Given the description of an element on the screen output the (x, y) to click on. 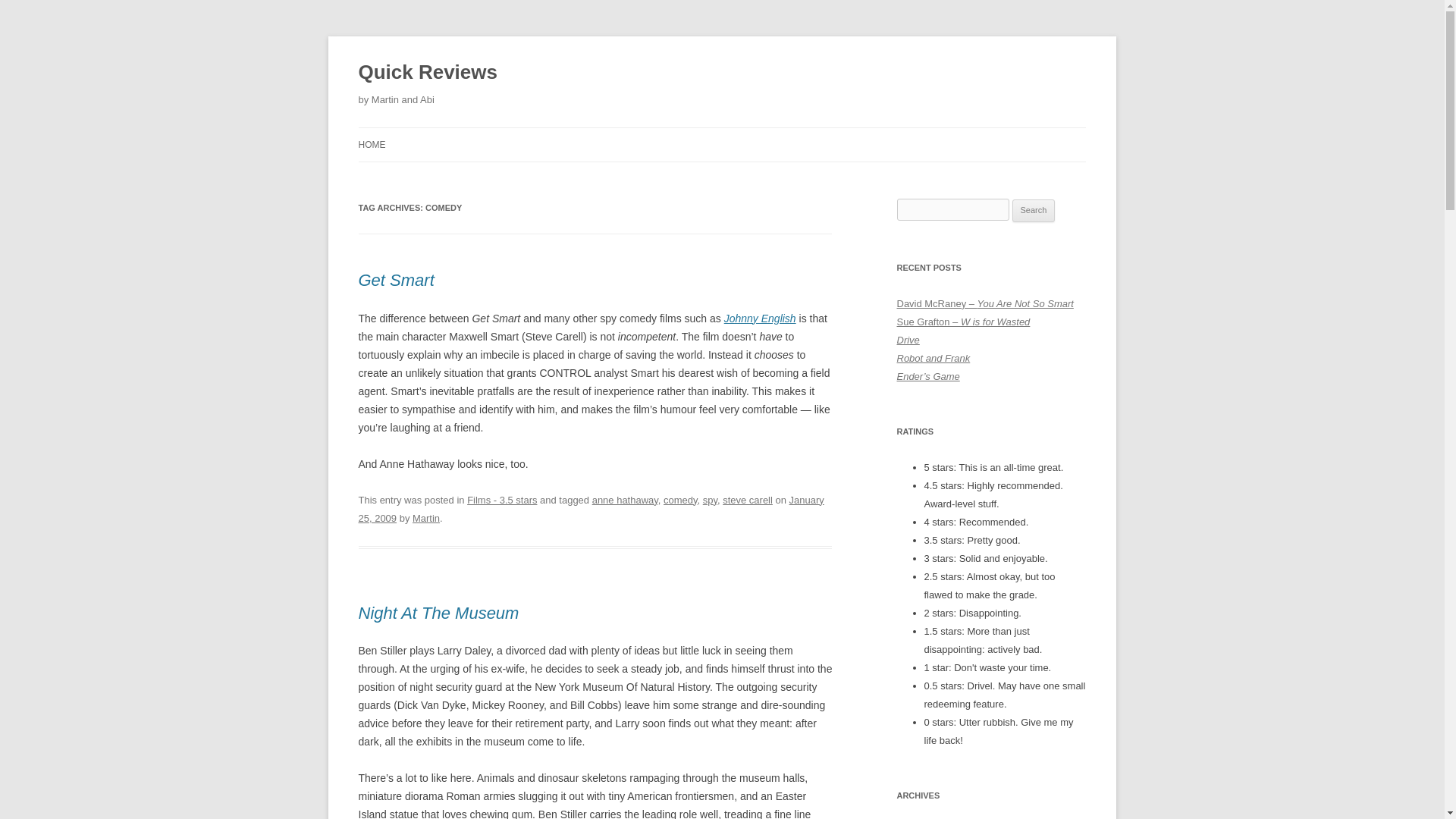
anne hathaway (625, 500)
Get Smart (395, 280)
Search (1033, 210)
steve carell (747, 500)
comedy (680, 500)
Night At The Museum (438, 612)
Quick Reviews (427, 72)
View all posts by Martin (425, 518)
Martin (425, 518)
